Given the description of an element on the screen output the (x, y) to click on. 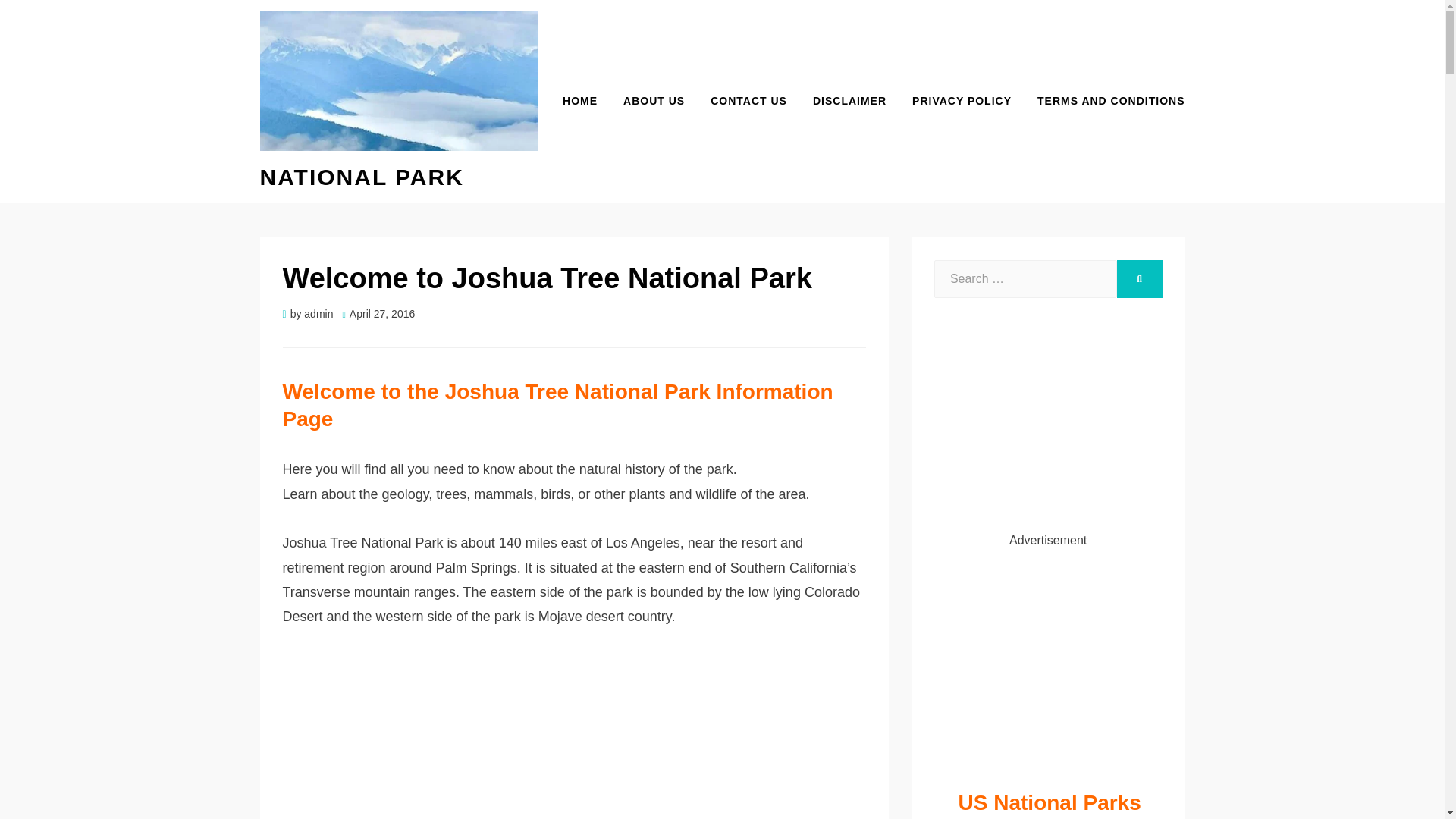
DISCLAIMER (849, 100)
TERMS AND CONDITIONS (1105, 100)
NATIONAL PARK (361, 176)
ABOUT US (653, 100)
National Park (361, 176)
HOME (580, 100)
PRIVACY POLICY (962, 100)
admin (318, 313)
April 27, 2016 (378, 313)
US National Parks Map (1048, 804)
CONTACT US (748, 100)
SEARCH (1138, 279)
Search for: (1025, 279)
